Given the description of an element on the screen output the (x, y) to click on. 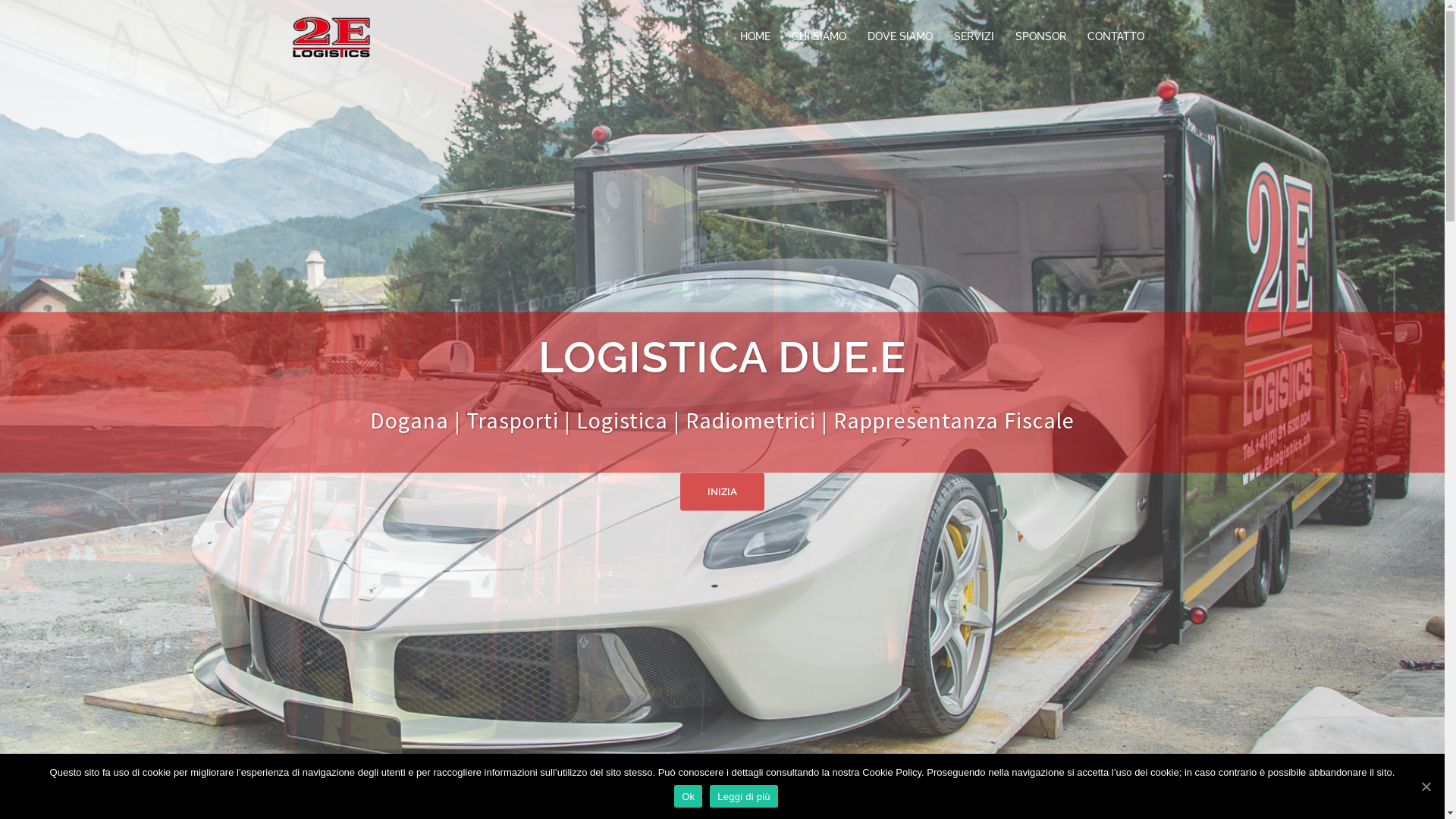
DOVE SIAMO Element type: text (899, 37)
SERVIZI Element type: text (973, 37)
HOME Element type: text (755, 37)
LOGISTICA DUE.E Element type: hover (330, 35)
INIZIA Element type: text (722, 492)
Ok Element type: text (688, 795)
SPONSOR Element type: text (1039, 37)
CHI SIAMO Element type: text (818, 37)
Vai al contenuto Element type: text (0, 0)
CONTATTO Element type: text (1115, 37)
